Given the description of an element on the screen output the (x, y) to click on. 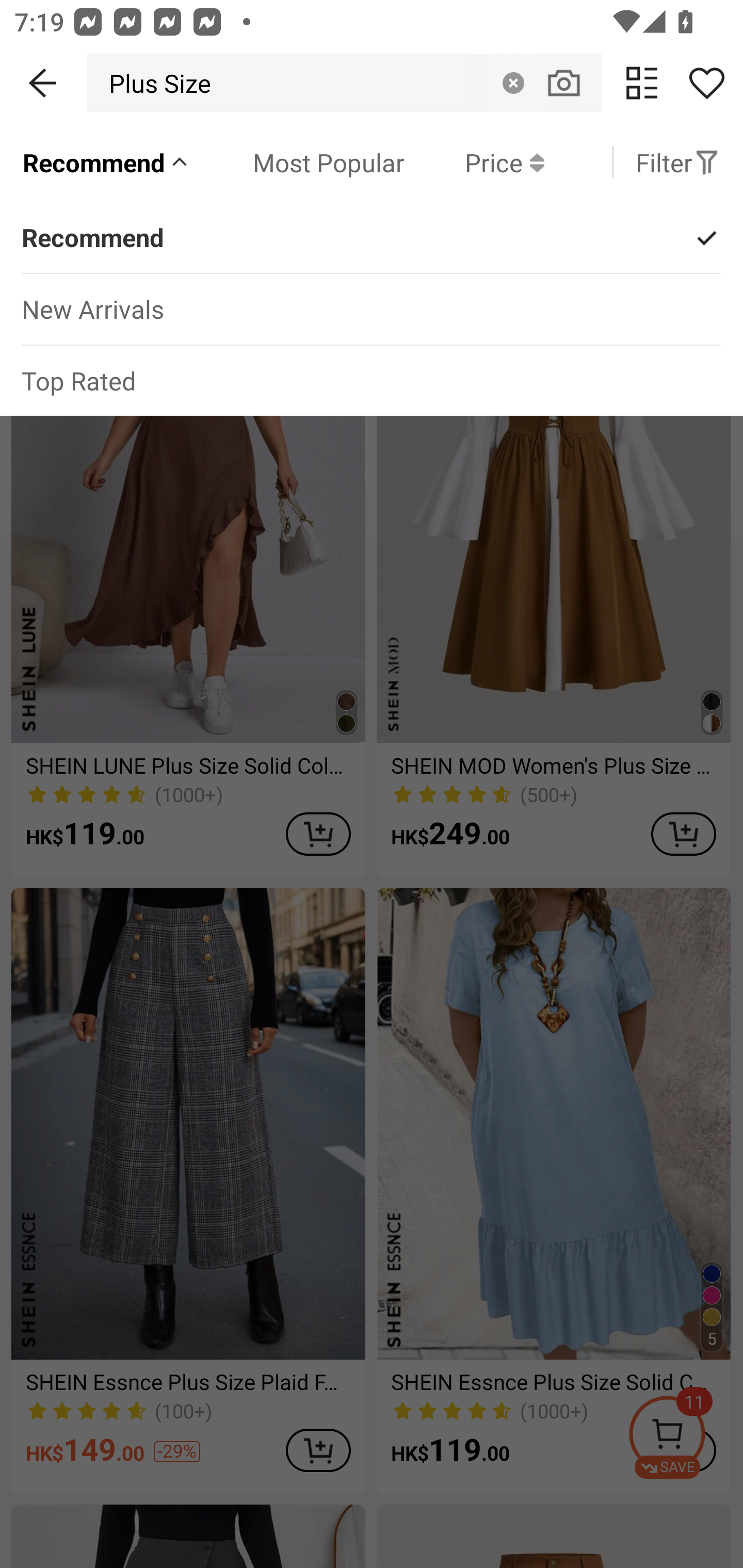
Plus Size Clear (343, 82)
Plus Size (153, 82)
Clear (513, 82)
change view (641, 82)
Share (706, 82)
Recommend (106, 162)
Most Popular (297, 162)
Price (474, 162)
Filter (677, 162)
